Given the description of an element on the screen output the (x, y) to click on. 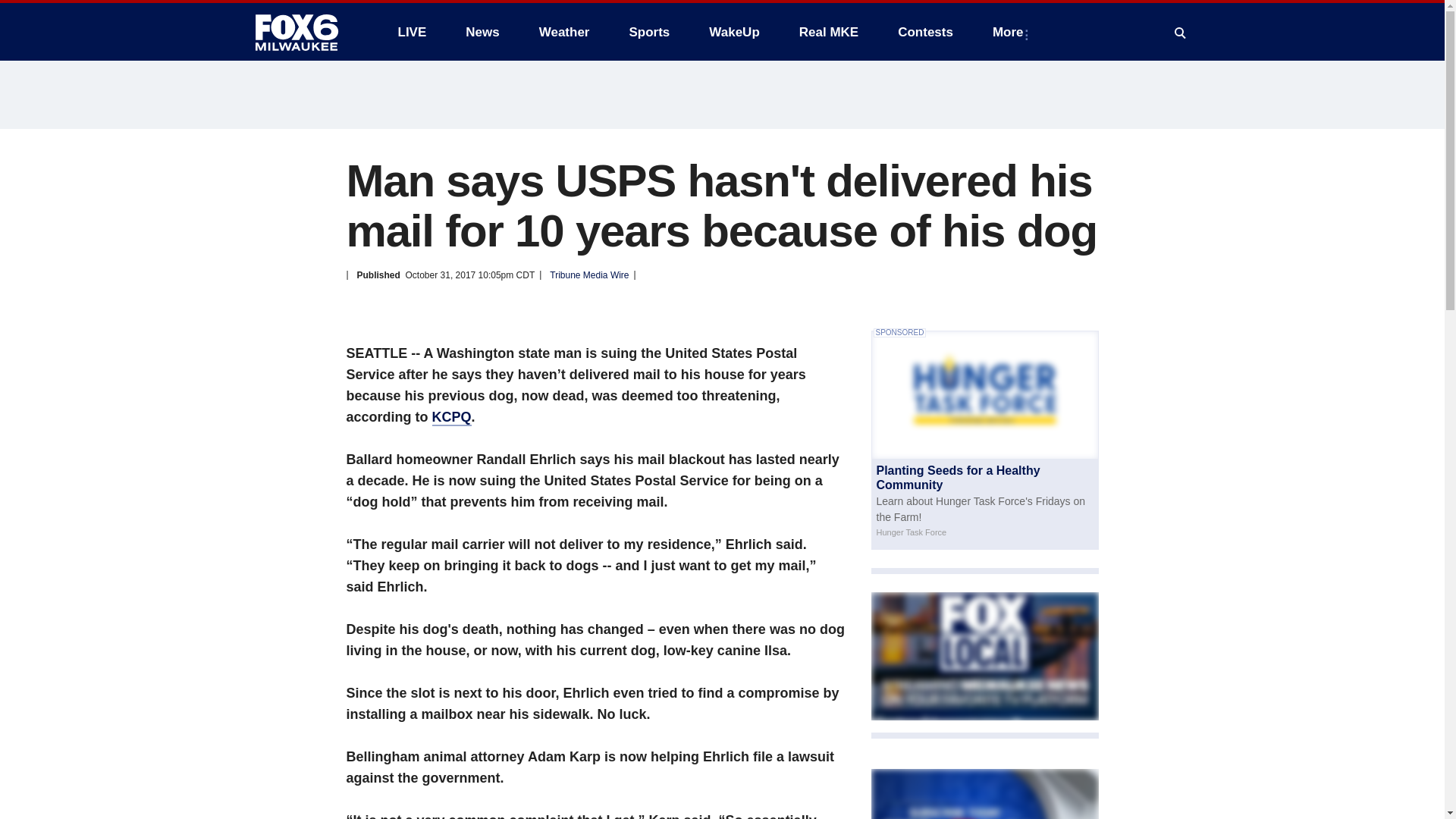
Sports (648, 32)
Weather (564, 32)
More (1010, 32)
Contests (925, 32)
News (481, 32)
WakeUp (734, 32)
Real MKE (828, 32)
LIVE (411, 32)
